Given the description of an element on the screen output the (x, y) to click on. 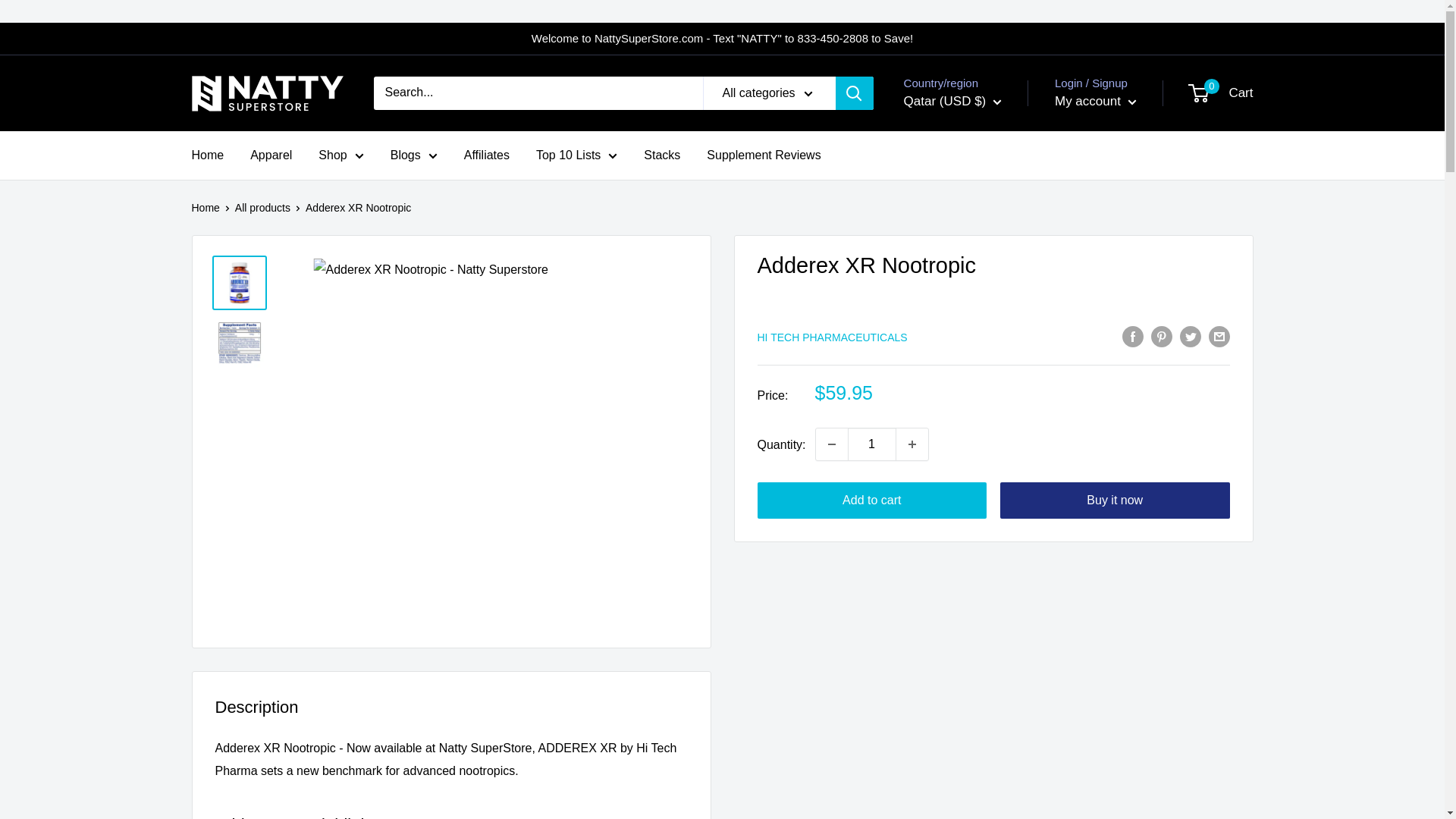
Decrease quantity by 1 (831, 444)
1 (871, 444)
Increase quantity by 1 (912, 444)
